Given the description of an element on the screen output the (x, y) to click on. 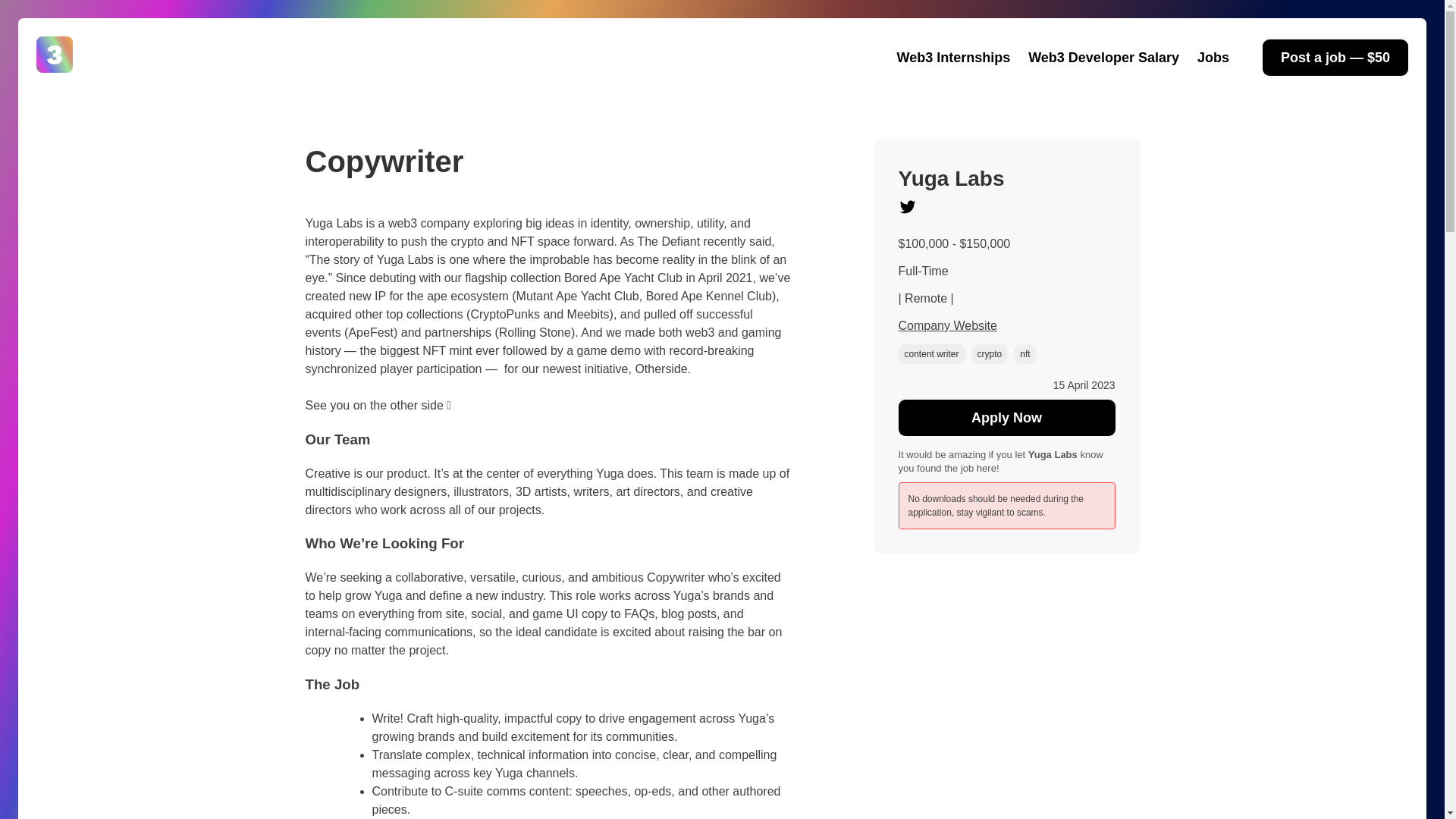
Web3 Jobs (77, 90)
nft (1024, 353)
Company Website (946, 325)
crypto (990, 353)
Jobs (1212, 57)
Web3 Developer Salary (1103, 57)
Apply Now (1006, 417)
Web3 Internships (953, 57)
content writer (930, 353)
